Given the description of an element on the screen output the (x, y) to click on. 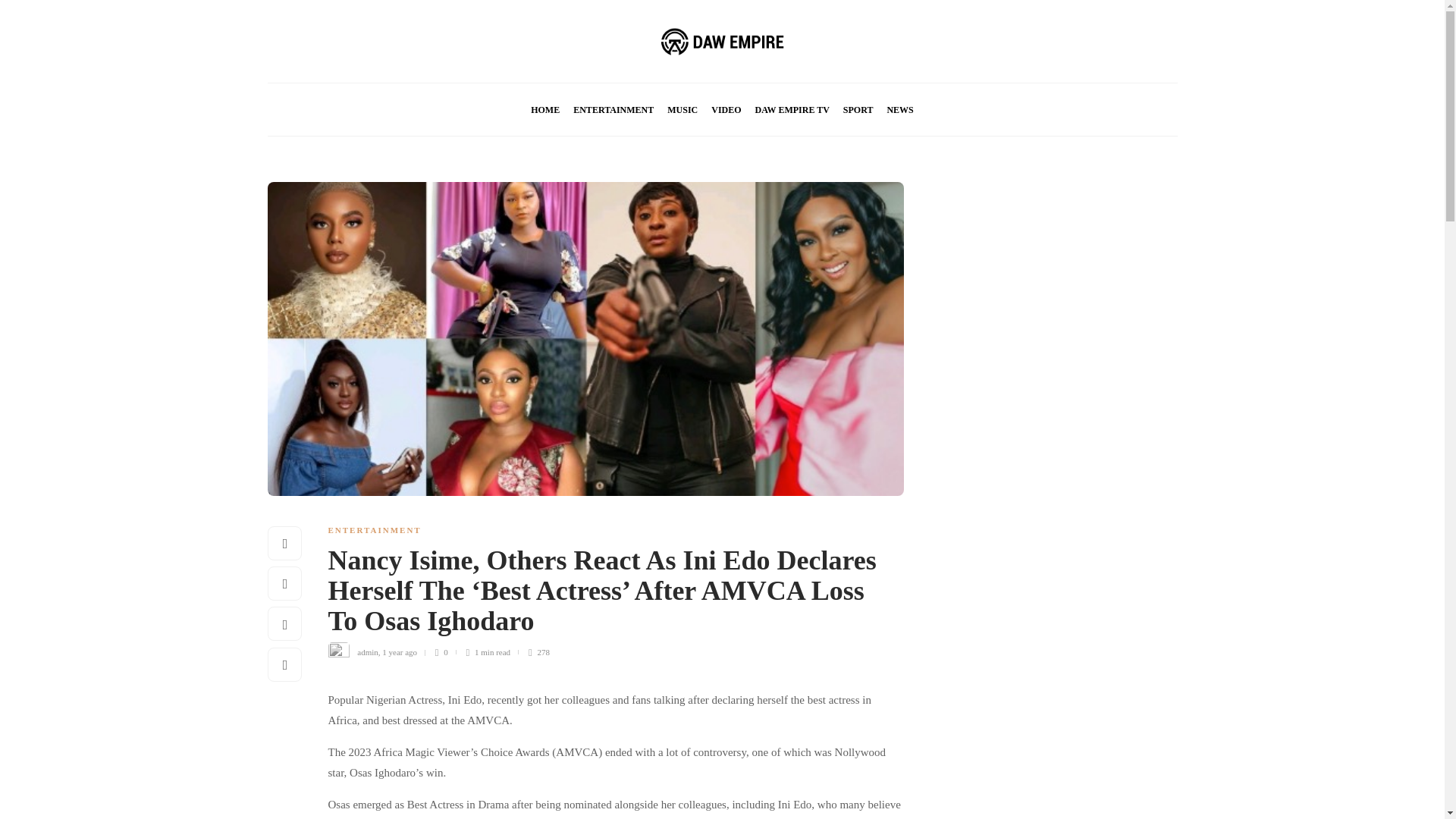
admin (367, 651)
ENTERTAINMENT (373, 529)
1 year ago (398, 651)
ENTERTAINMENT (613, 109)
DAW EMPIRE TV (792, 109)
0 (444, 652)
